Given the description of an element on the screen output the (x, y) to click on. 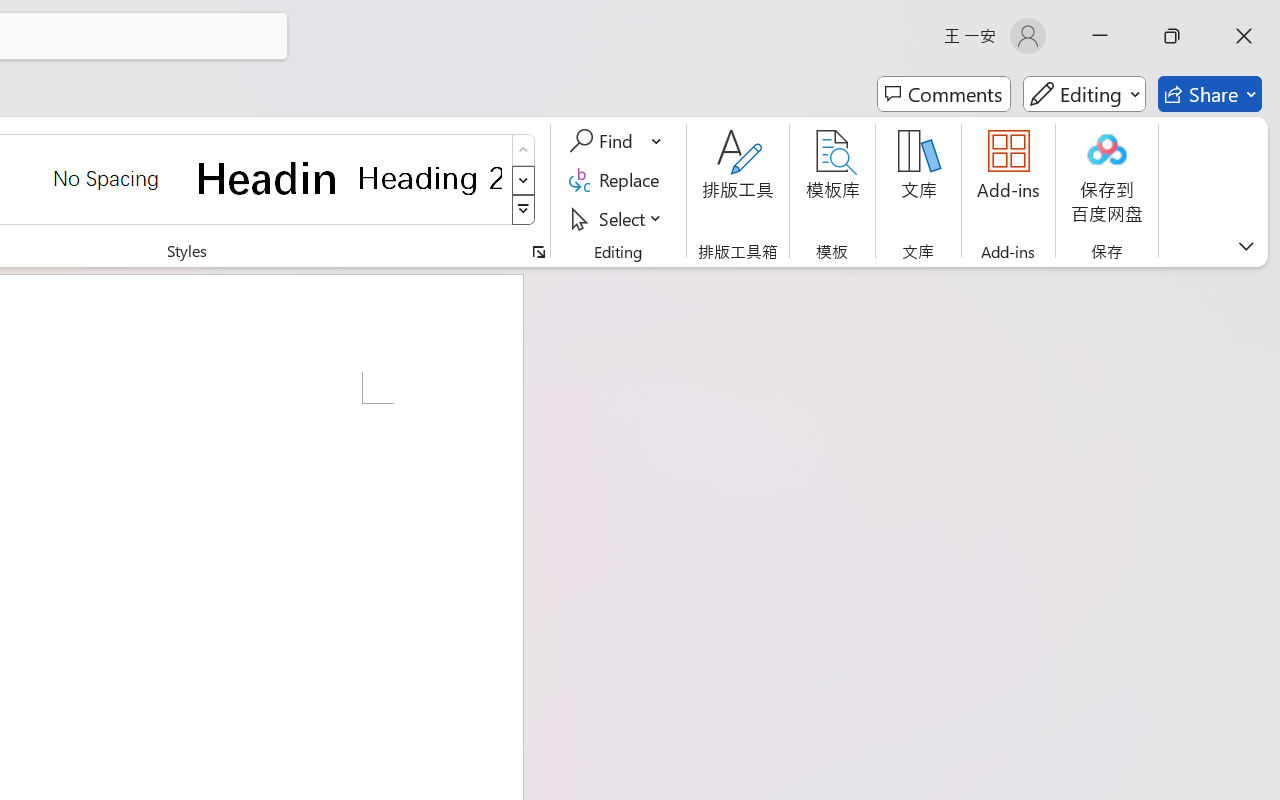
Replace... (617, 179)
